Given the description of an element on the screen output the (x, y) to click on. 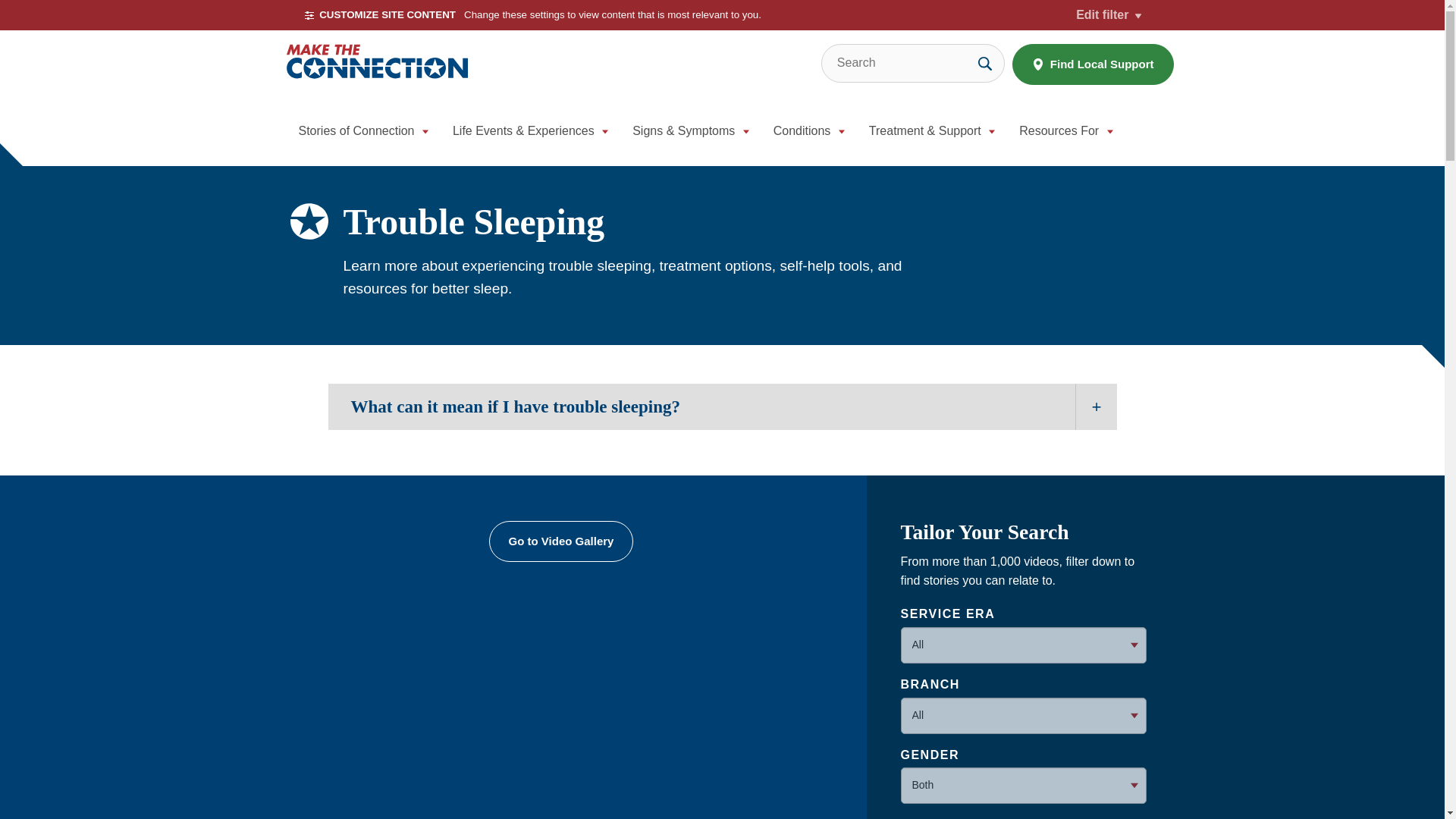
Find Local Support (1092, 64)
Home (376, 62)
Stories of Connection (363, 134)
Edit filter (1108, 15)
